Given the description of an element on the screen output the (x, y) to click on. 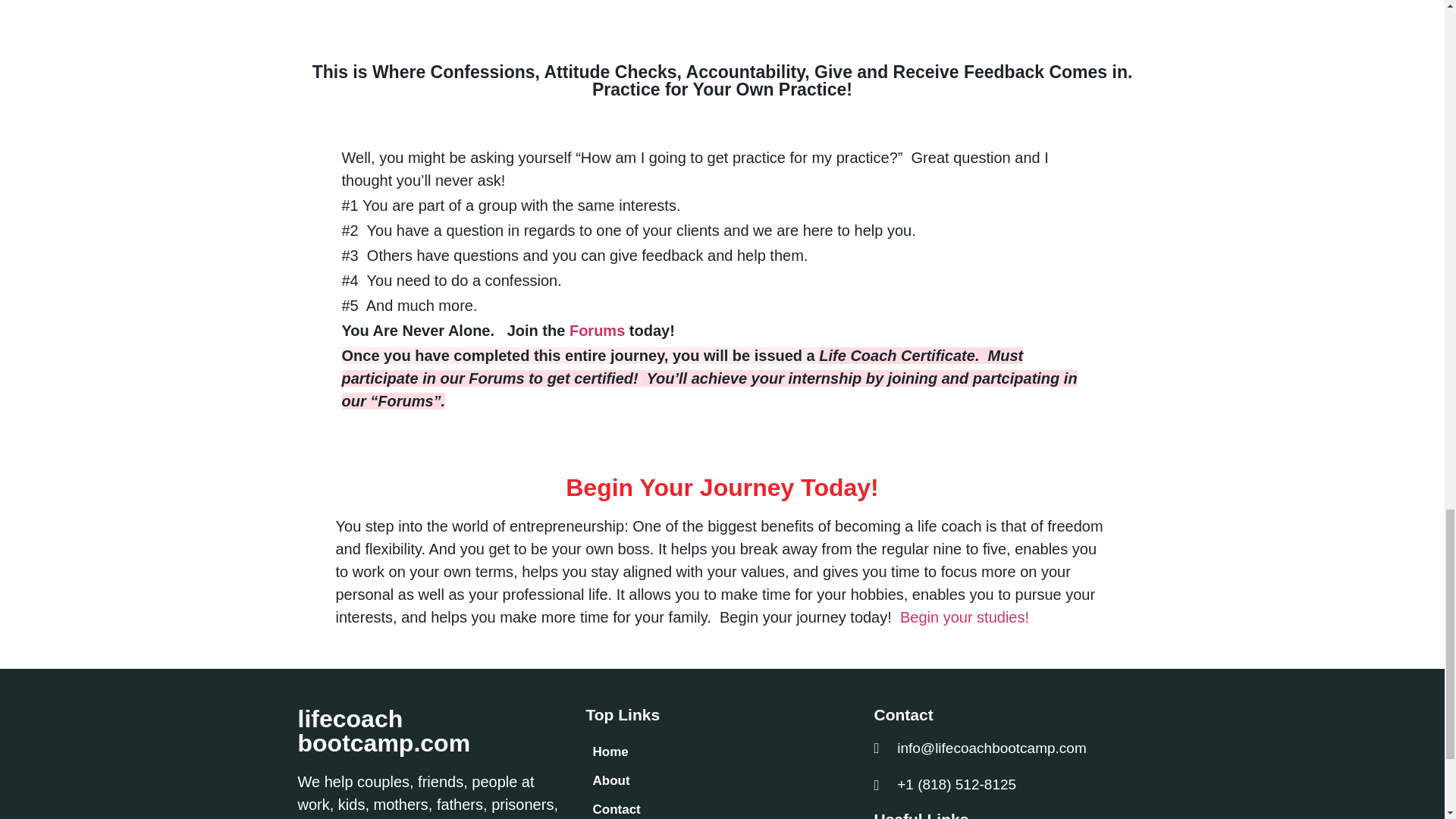
About (722, 780)
Begin your studies! (964, 617)
Contact (722, 807)
Home (722, 751)
Forums (596, 330)
